Given the description of an element on the screen output the (x, y) to click on. 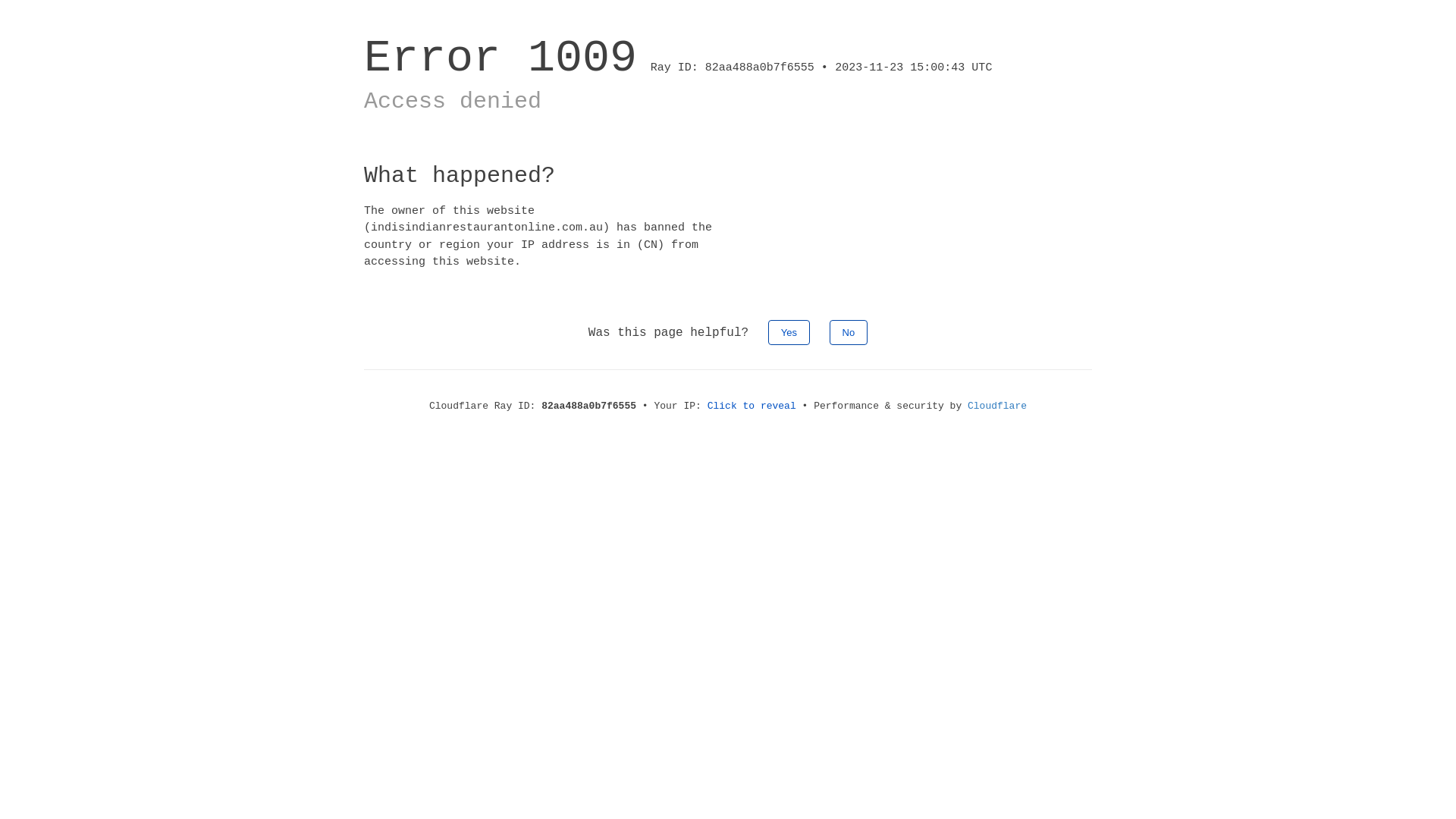
Cloudflare Element type: text (996, 405)
No Element type: text (848, 332)
Yes Element type: text (788, 332)
Click to reveal Element type: text (751, 405)
